Given the description of an element on the screen output the (x, y) to click on. 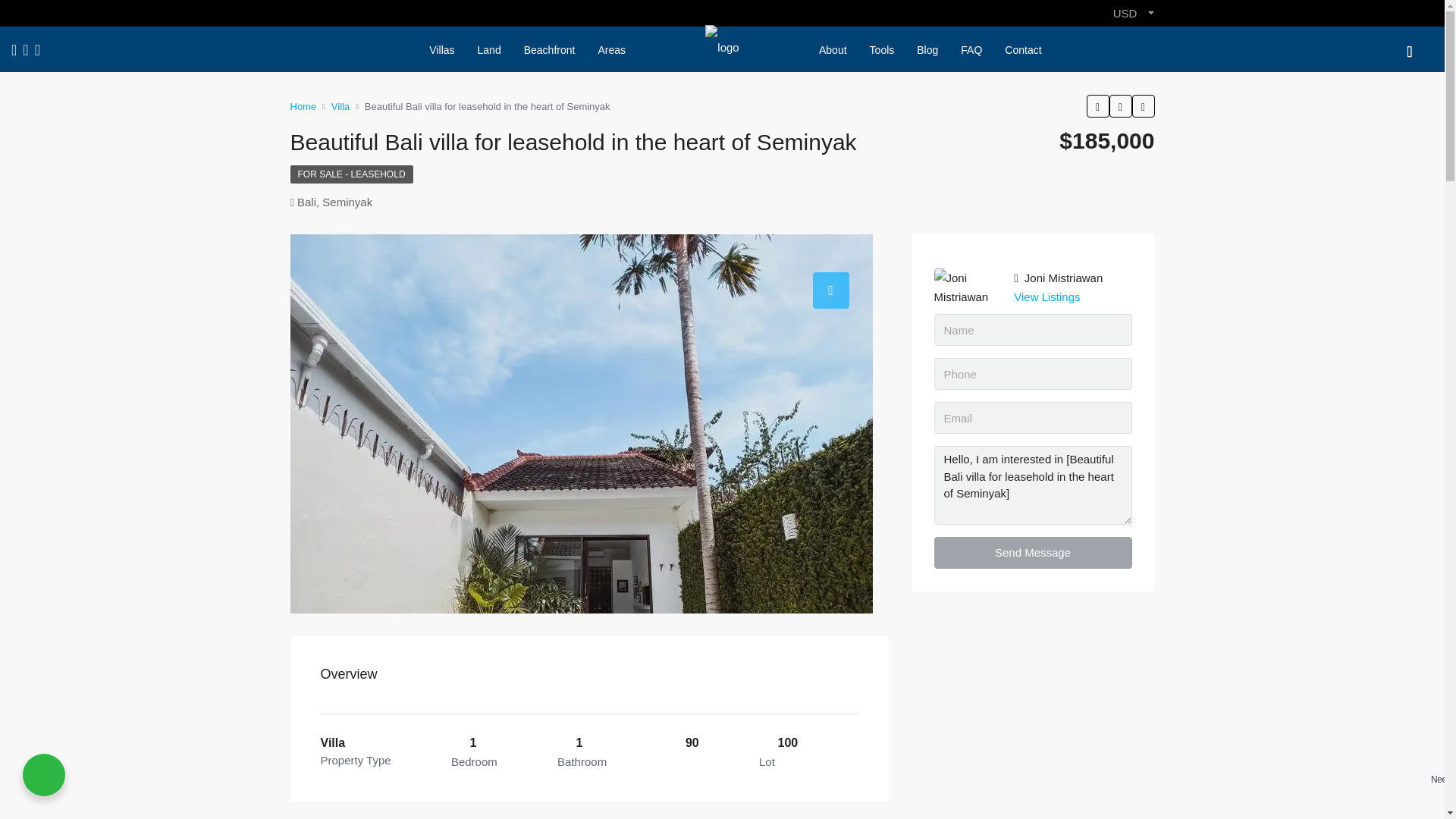
Land (488, 49)
About (833, 49)
Home (302, 106)
Beachfront (549, 49)
FAQ (970, 49)
Villa (340, 106)
Blog (927, 49)
Villas (441, 49)
USD (1133, 13)
